Given the description of an element on the screen output the (x, y) to click on. 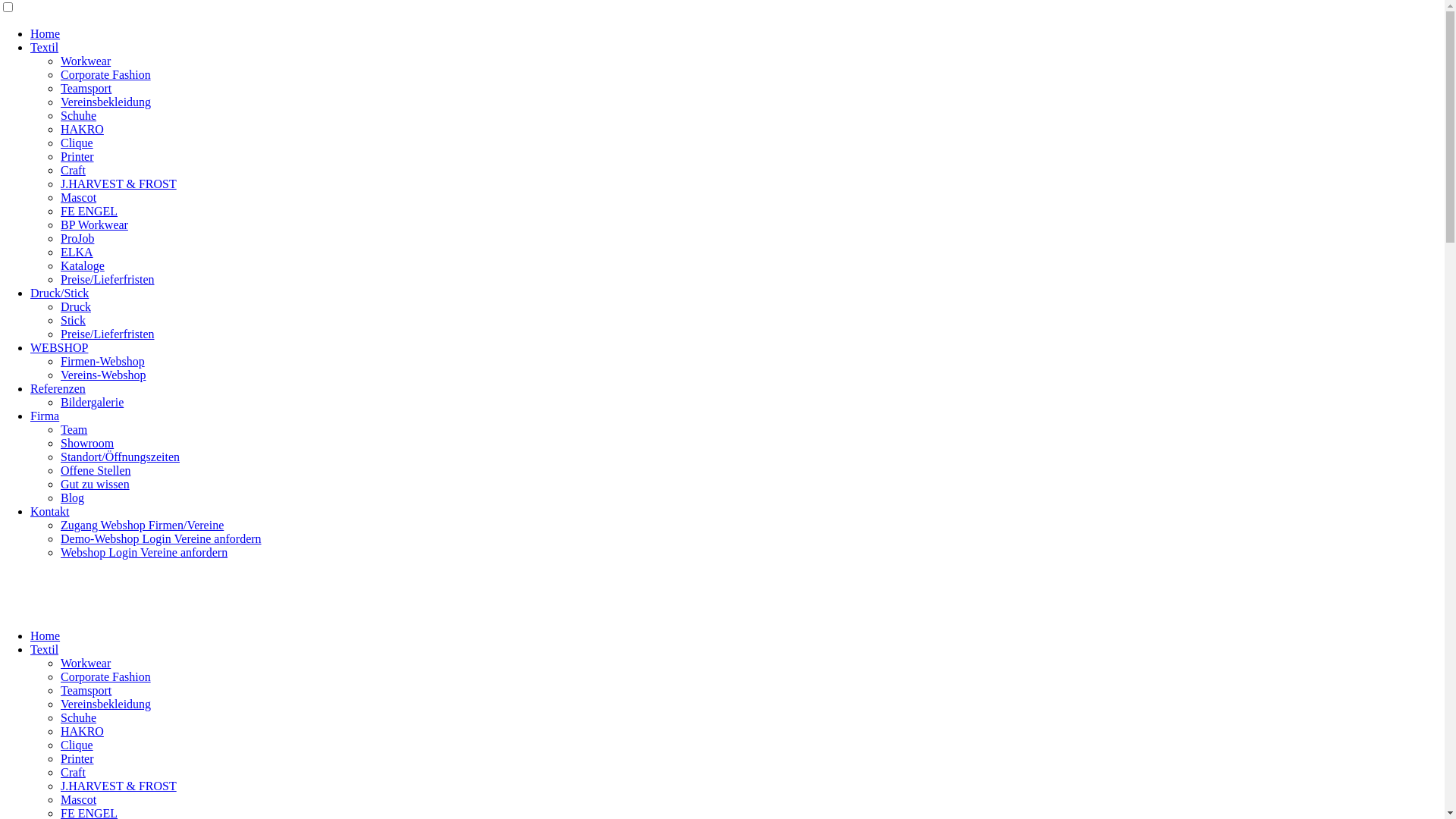
Textil Element type: text (44, 649)
Clique Element type: text (76, 744)
Referenzen Element type: text (57, 388)
J.HARVEST & FROST Element type: text (118, 785)
Schuhe Element type: text (78, 717)
BP Workwear Element type: text (94, 224)
Mascot Element type: text (78, 799)
Vereinsbekleidung Element type: text (105, 101)
Team Element type: text (73, 429)
ProJob Element type: text (77, 238)
Vereins-Webshop Element type: text (102, 374)
Home Element type: text (44, 635)
WEBSHOP Element type: text (58, 347)
Corporate Fashion Element type: text (105, 74)
Demo-Webshop Login Vereine anfordern Element type: text (160, 538)
FE ENGEL Element type: text (88, 210)
Preise/Lieferfristen Element type: text (107, 333)
Druck/Stick Element type: text (59, 292)
Bildergalerie Element type: text (91, 401)
HAKRO Element type: text (81, 128)
Gut zu wissen Element type: text (94, 483)
Firmen-Webshop Element type: text (102, 360)
Zugang Webshop Firmen/Vereine Element type: text (141, 524)
Druck Element type: text (75, 306)
Teamsport Element type: text (85, 87)
Showroom Element type: text (86, 442)
Workwear Element type: text (85, 662)
Offene Stellen Element type: text (95, 470)
Mascot Element type: text (78, 197)
Preise/Lieferfristen Element type: text (107, 279)
Corporate Fashion Element type: text (105, 676)
Textil Element type: text (44, 46)
Stick Element type: text (72, 319)
Printer Element type: text (77, 156)
Craft Element type: text (72, 771)
Clique Element type: text (76, 142)
Firma Element type: text (44, 415)
Kataloge Element type: text (82, 265)
Craft Element type: text (72, 169)
J.HARVEST & FROST Element type: text (118, 183)
Webshop Login Vereine anfordern Element type: text (143, 552)
Home Element type: text (44, 33)
Kontakt Element type: text (49, 511)
Workwear Element type: text (85, 60)
Blog Element type: text (72, 497)
Schuhe Element type: text (78, 115)
Printer Element type: text (77, 758)
Vereinsbekleidung Element type: text (105, 703)
ELKA Element type: text (76, 251)
Teamsport Element type: text (85, 690)
HAKRO Element type: text (81, 730)
